Given the description of an element on the screen output the (x, y) to click on. 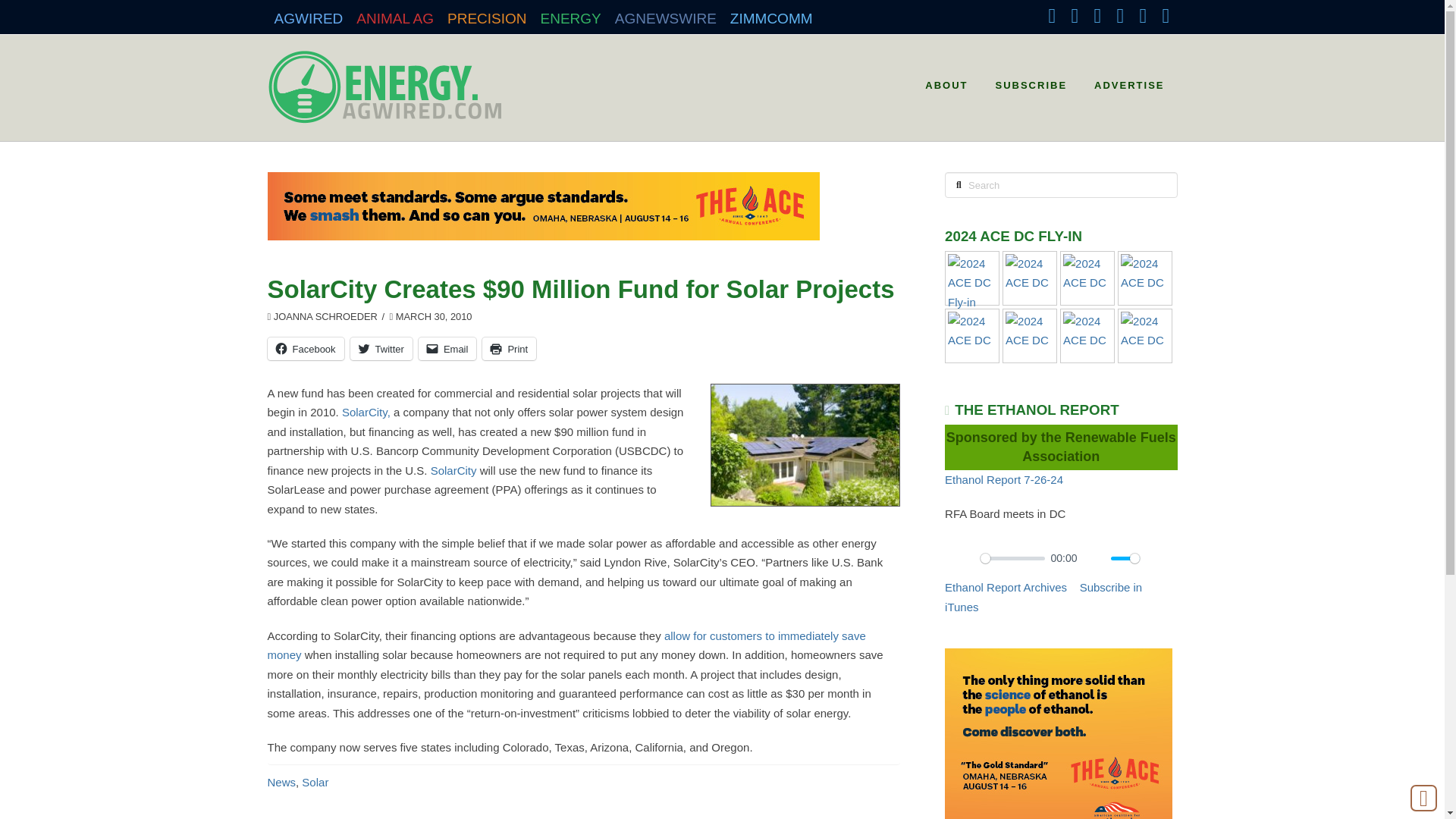
Click to share on Facebook (304, 348)
Print (508, 348)
Solar (315, 781)
Email (448, 348)
YouTube (1097, 15)
0 (1012, 558)
SolarCityHome (804, 445)
ADVERTISE (1128, 80)
Twitter (381, 348)
Instagram (1119, 15)
Flickr (1142, 15)
1 (1125, 558)
2024 ACE DC (1030, 272)
SUBSCRIBE (1029, 80)
ABOUT (945, 80)
